Given the description of an element on the screen output the (x, y) to click on. 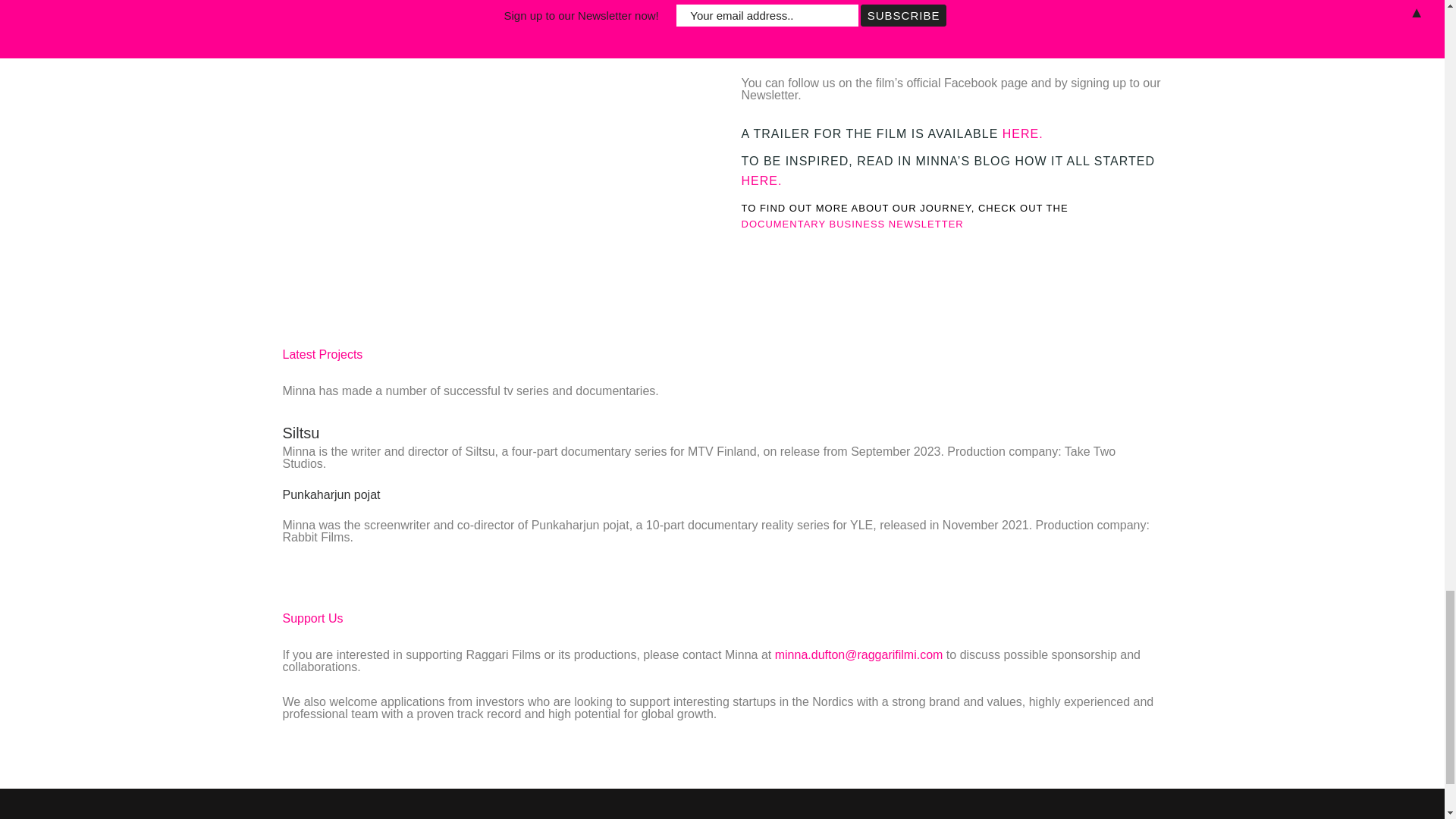
HERE. (1023, 133)
Escapade Media (832, 6)
HERE (759, 180)
DOCUMENTARY BUSINESS NEWSLETTER. (854, 224)
